Given the description of an element on the screen output the (x, y) to click on. 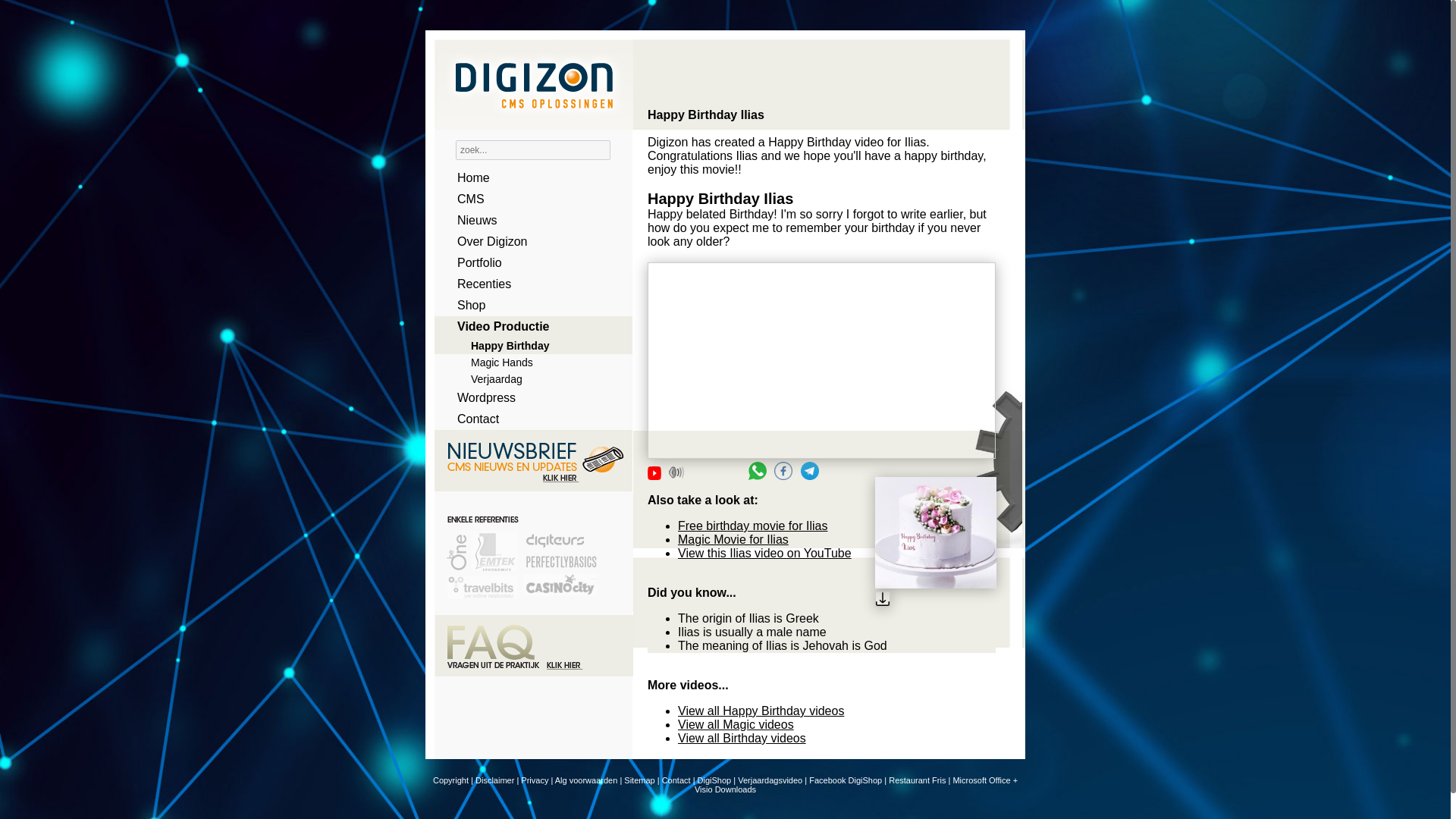
Free birthday movie for Ilias (752, 525)
View all Happy Birthday videos (761, 710)
Contact (528, 418)
Restaurant Fris (916, 779)
Video Productie (528, 326)
CMS (528, 199)
Nieuws (528, 219)
Alg voorwaarden (585, 779)
Recenties (528, 283)
Shop (528, 305)
Copyright (450, 779)
View on Youtube (654, 472)
Magic Hands (528, 362)
Happy Birthday (528, 345)
View all Magic videos (735, 724)
